Given the description of an element on the screen output the (x, y) to click on. 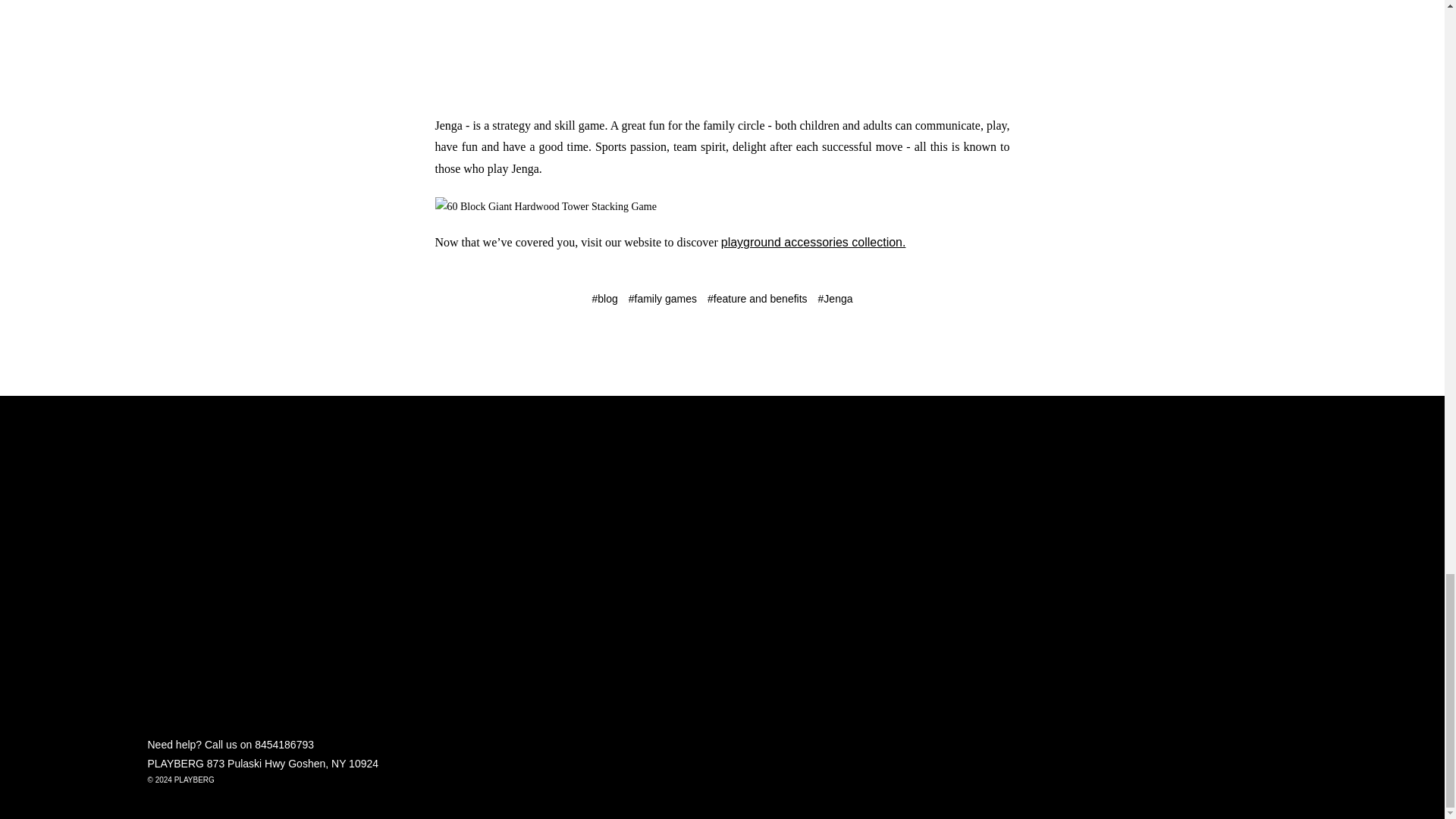
60 Block Giant Hardwood Tower Stacking Game (722, 49)
playground accessories collection. (812, 242)
60 Block Giant Hardwood Tower Stacking Game (545, 206)
